Given the description of an element on the screen output the (x, y) to click on. 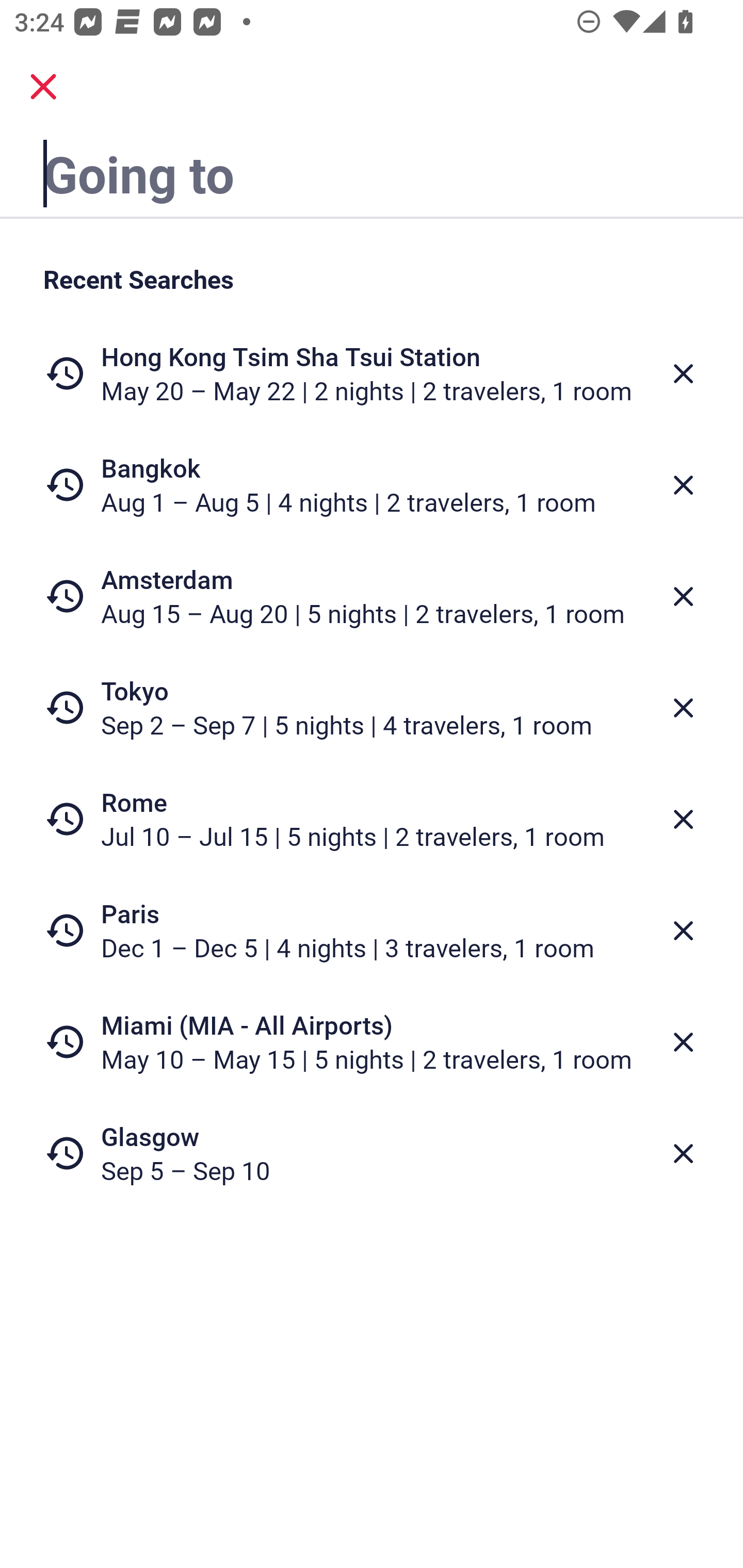
close. (43, 86)
Delete from recent searches (683, 373)
Delete from recent searches (683, 485)
Delete from recent searches (683, 596)
Delete from recent searches (683, 707)
Delete from recent searches (683, 819)
Delete from recent searches (683, 930)
Delete from recent searches (683, 1041)
Glasgow Sep 5 – Sep 10 (371, 1152)
Delete from recent searches (683, 1153)
